Given the description of an element on the screen output the (x, y) to click on. 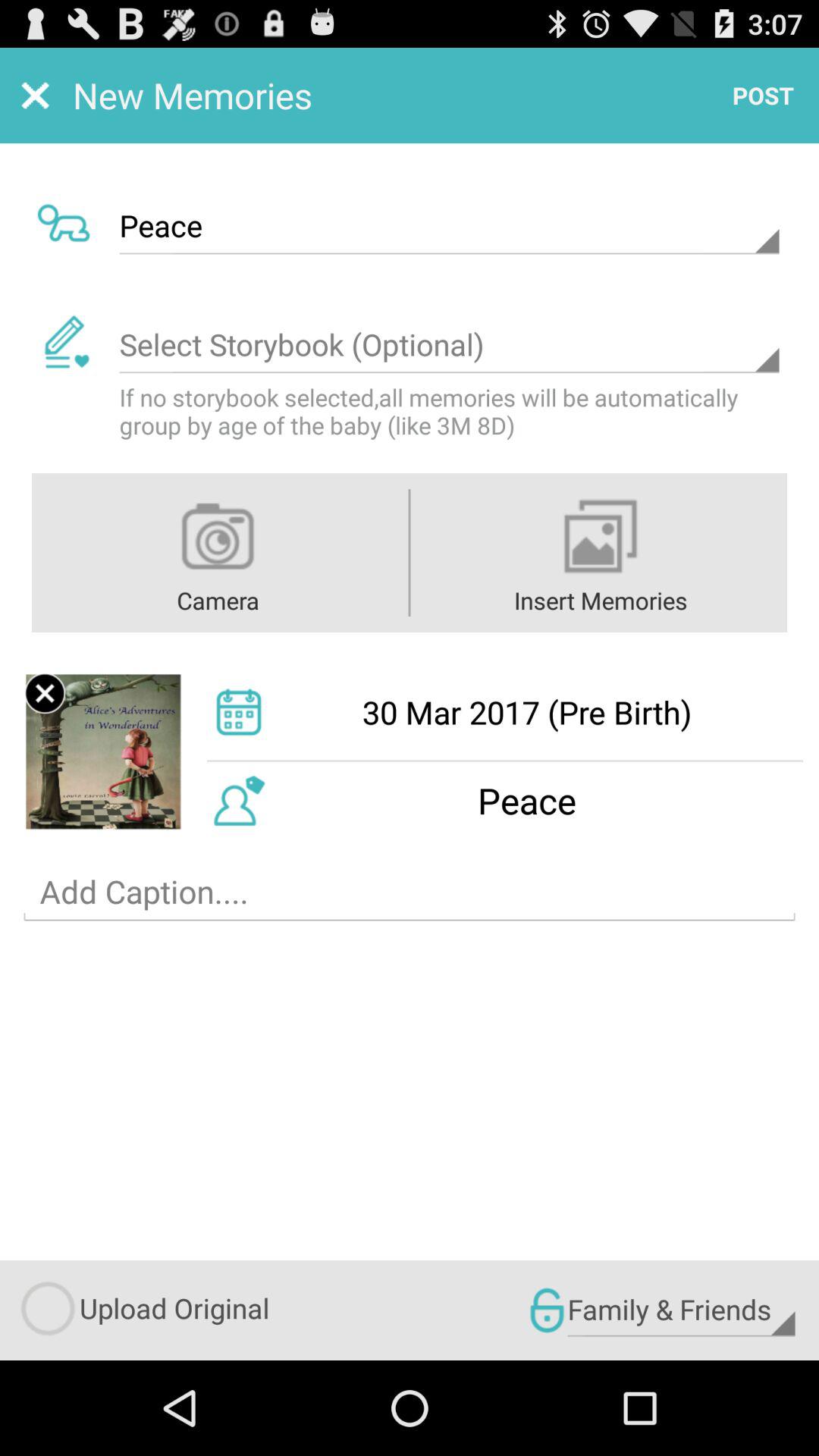
add caption field (409, 891)
